Given the description of an element on the screen output the (x, y) to click on. 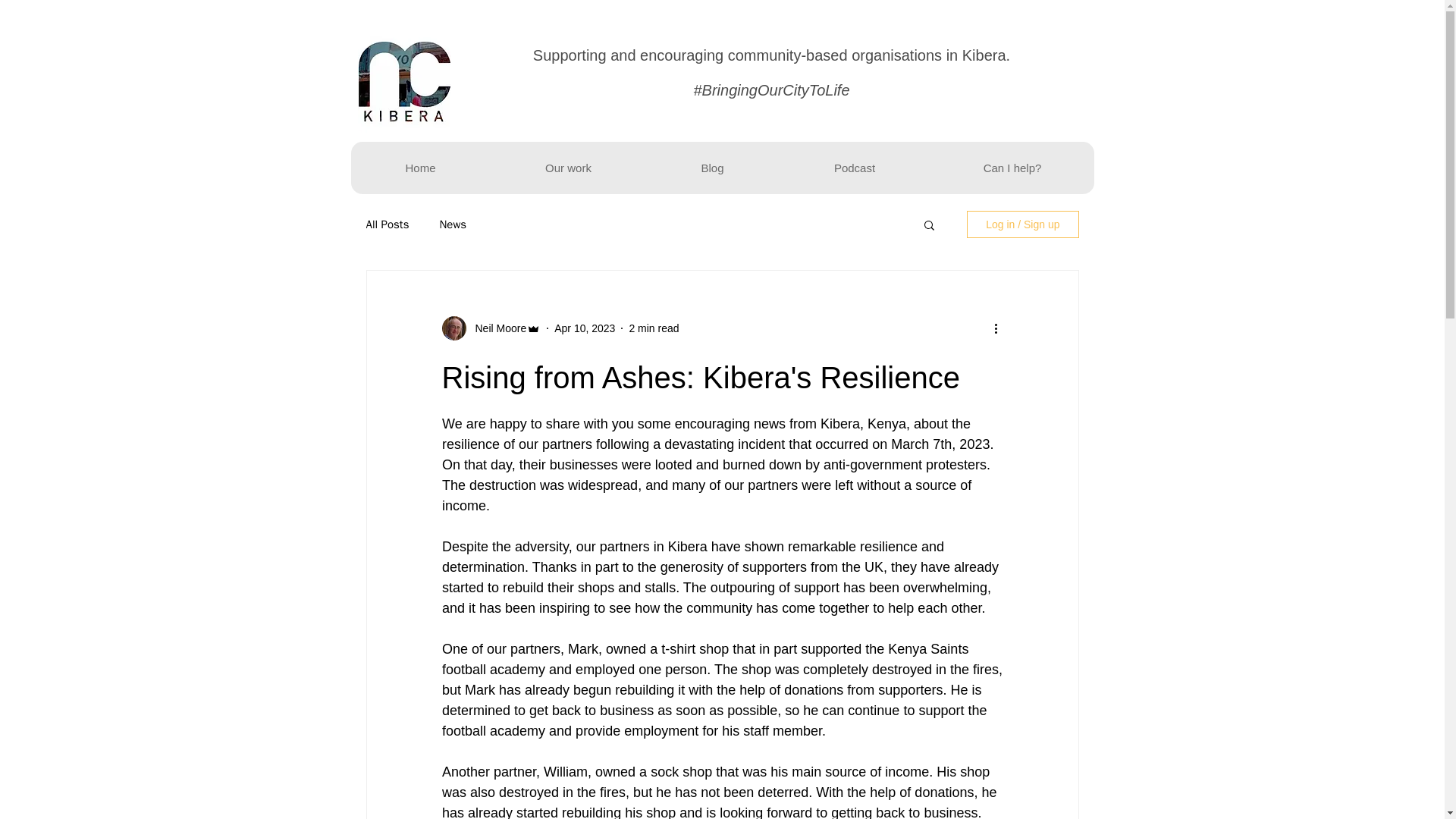
Apr 10, 2023 (584, 327)
All Posts (387, 223)
Our work (567, 167)
2 min read (653, 327)
Home (419, 167)
Podcast (853, 167)
News (452, 223)
Neil Moore (495, 327)
Blog (712, 167)
Can I help? (1011, 167)
